Given the description of an element on the screen output the (x, y) to click on. 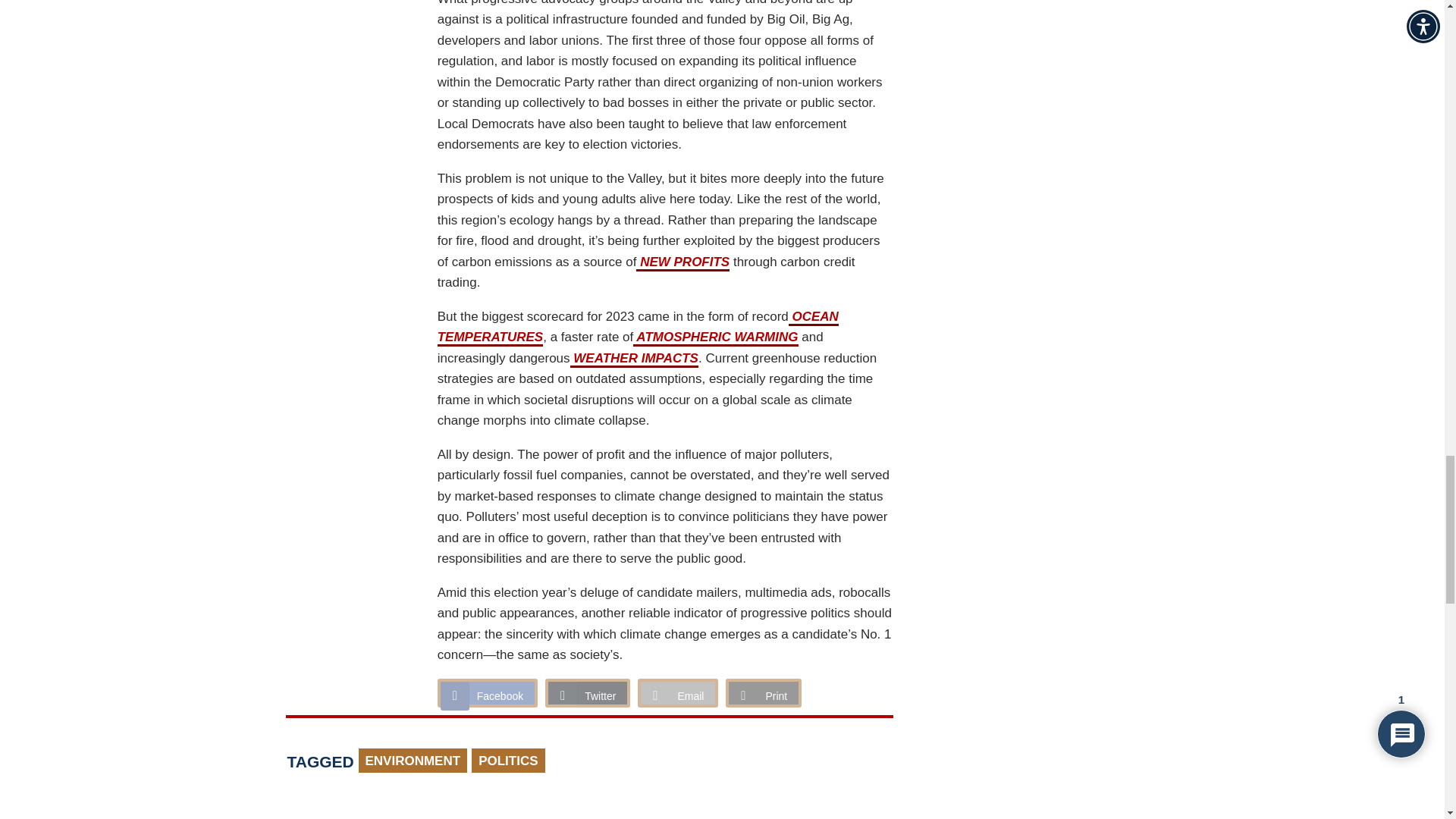
Twitter (587, 692)
Facebook (487, 692)
NEW PROFITS (682, 262)
ENVIRONMENT (412, 760)
POLITICS (507, 760)
Email (677, 692)
ATMOSPHERIC WARMING (715, 338)
OCEAN TEMPERATURES (638, 328)
WEATHER IMPACTS (634, 359)
Print (763, 692)
